Given the description of an element on the screen output the (x, y) to click on. 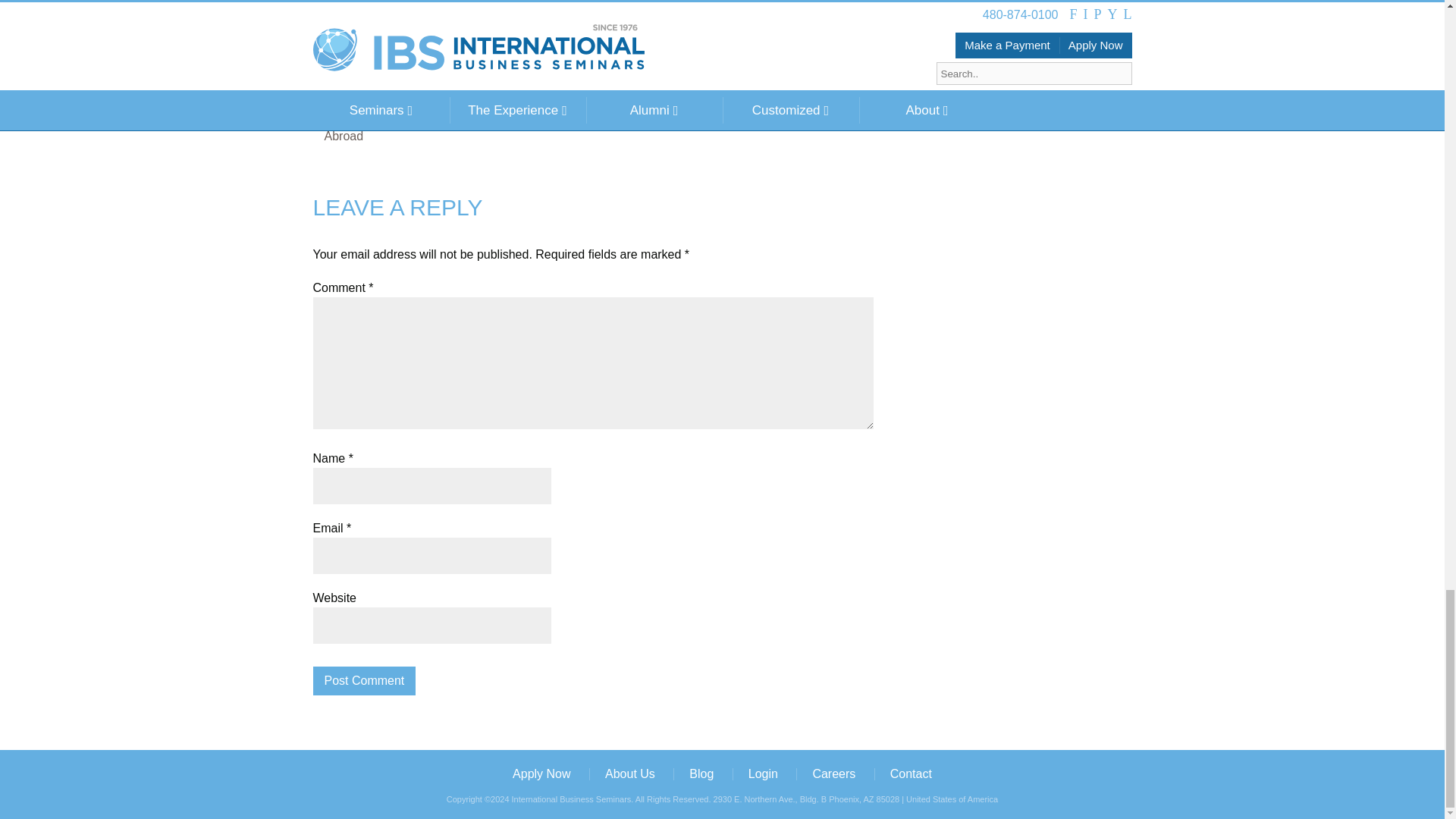
Let the Internet Pack for You (398, 40)
Avoid These 3 Costly Money Mistakes When Traveling Abroad (477, 64)
Post Comment (363, 680)
Distinguishing Real News from AI-Generated Content (457, 16)
